Given the description of an element on the screen output the (x, y) to click on. 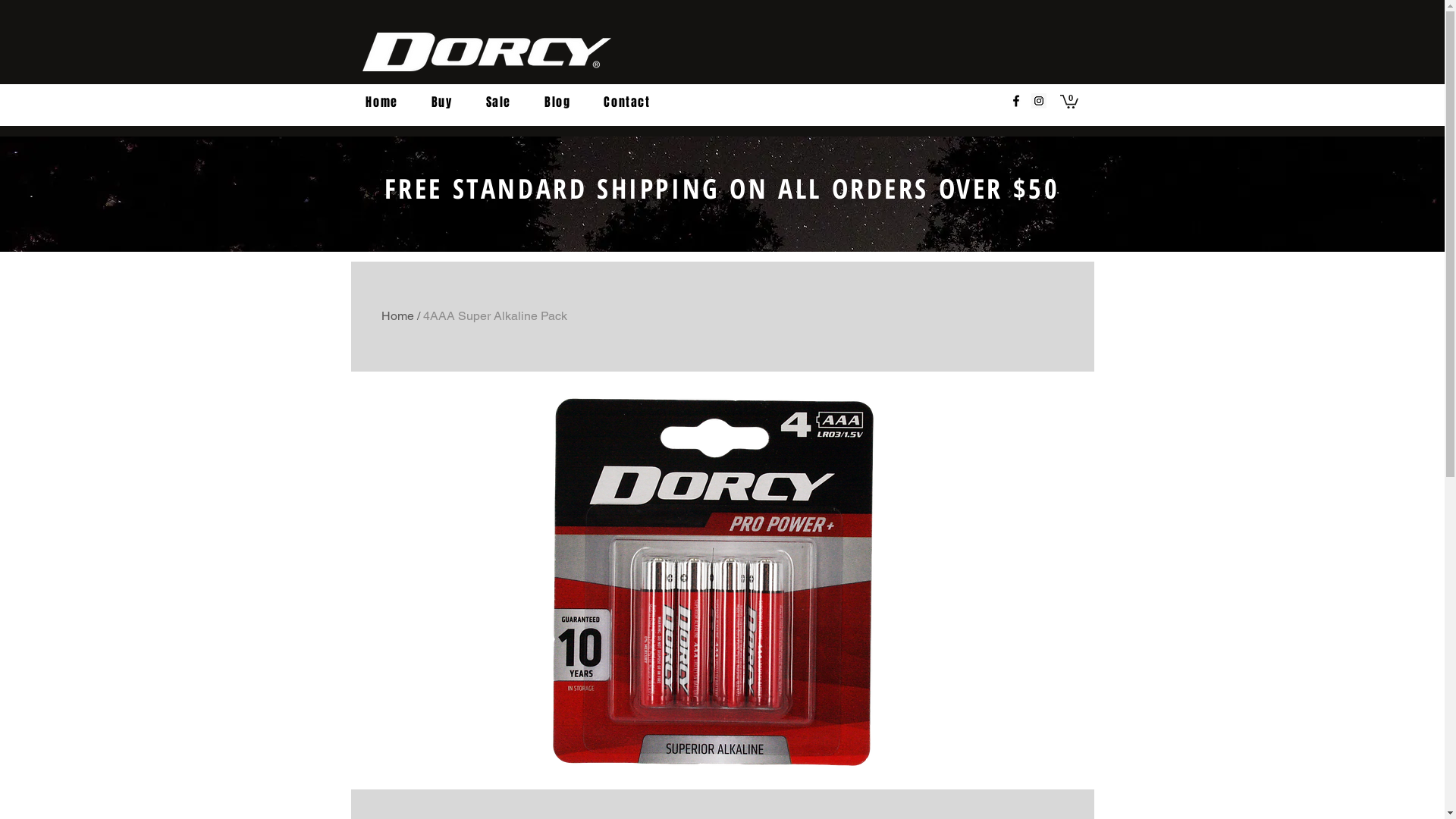
Buy Element type: text (441, 102)
Home Element type: text (381, 102)
Blog Element type: text (556, 102)
4AAA Super Alkaline Pack Element type: text (495, 315)
Sale Element type: text (498, 102)
Contact Element type: text (626, 102)
0 Element type: text (1069, 100)
Home Element type: text (396, 315)
